Given the description of an element on the screen output the (x, y) to click on. 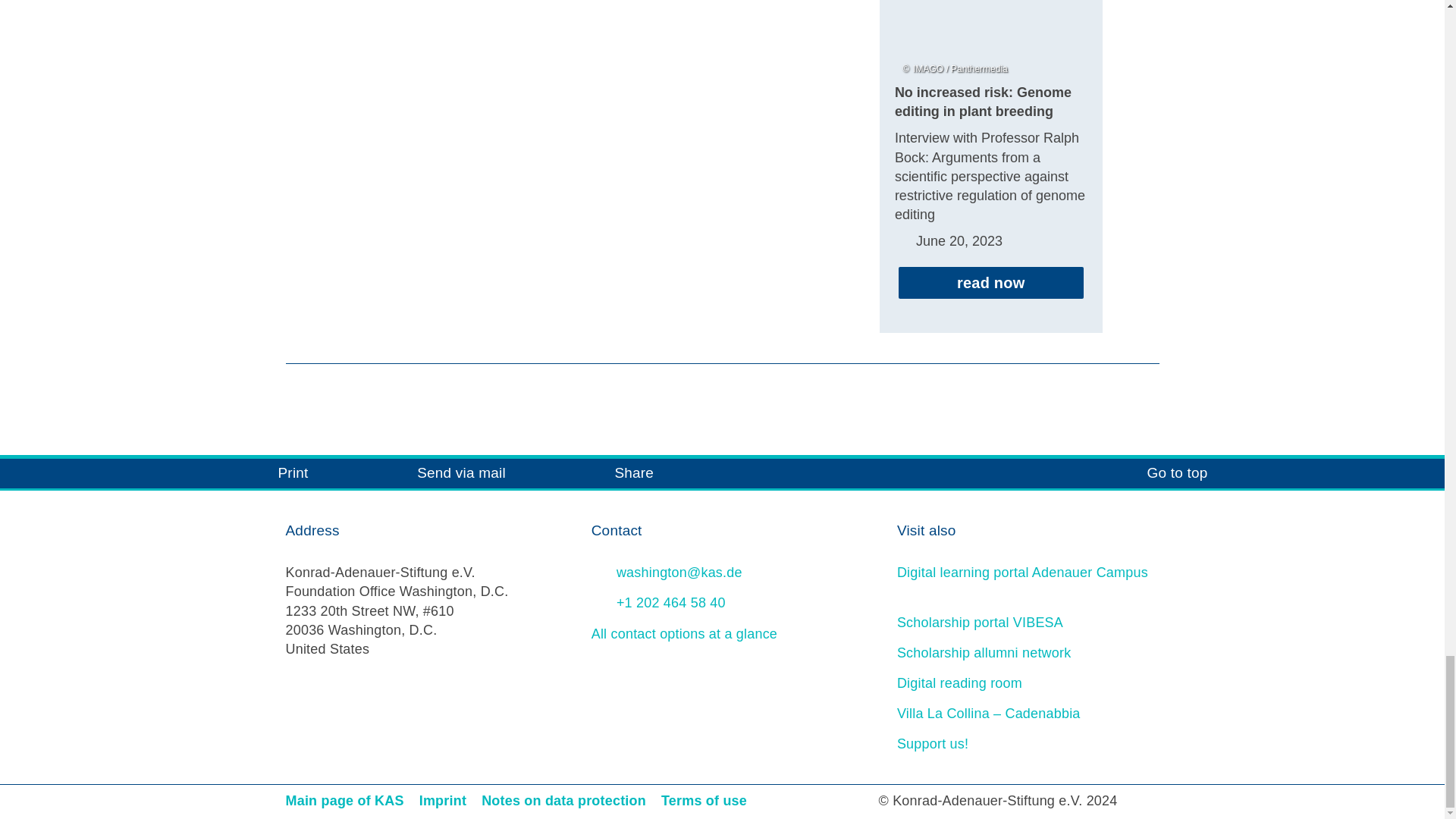
Print (271, 473)
